Given the description of an element on the screen output the (x, y) to click on. 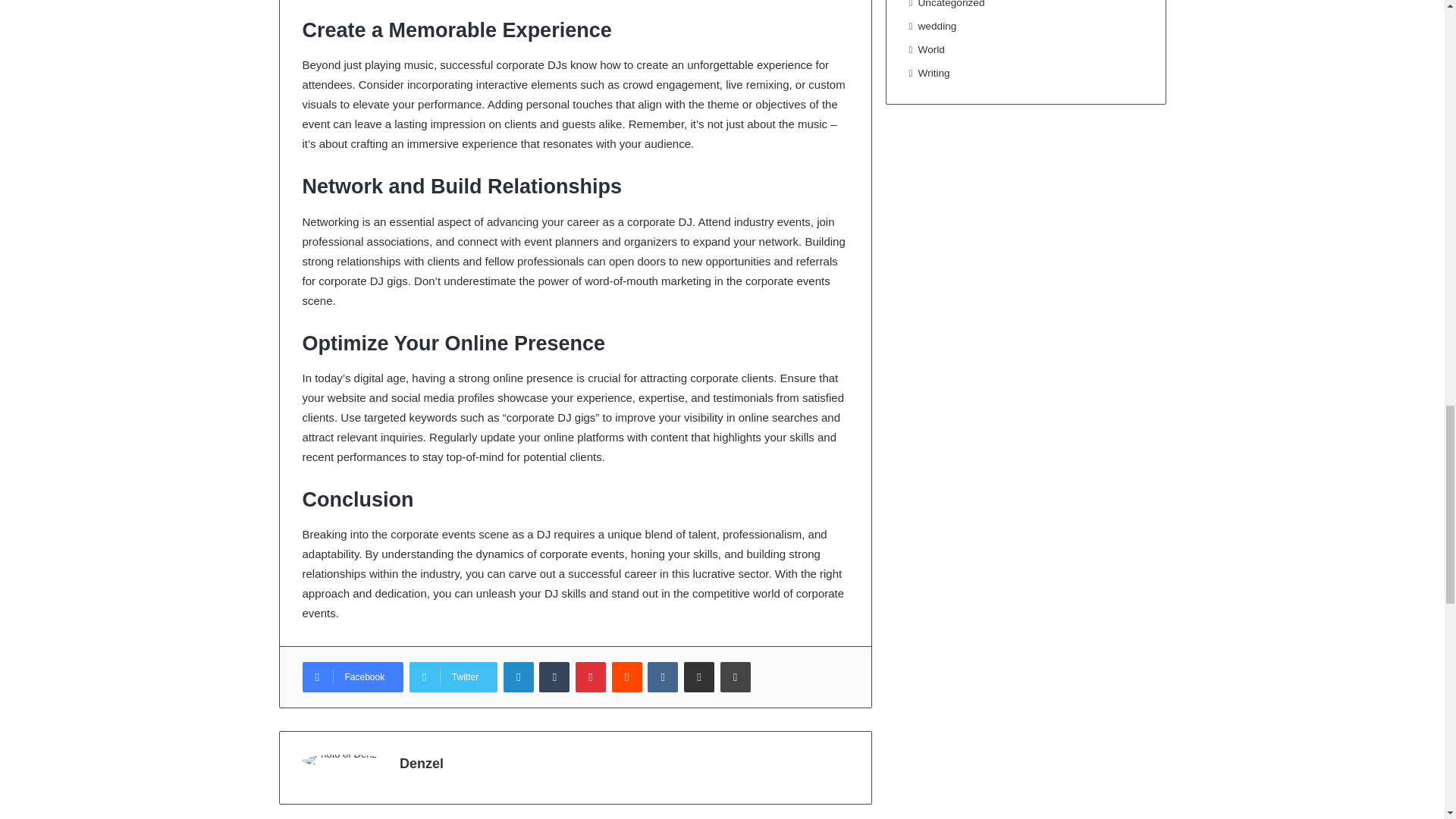
Reddit (626, 676)
Twitter (453, 676)
Print (735, 676)
LinkedIn (518, 676)
VKontakte (662, 676)
Print (735, 676)
Reddit (626, 676)
Tumblr (553, 676)
Twitter (453, 676)
Share via Email (699, 676)
